Given the description of an element on the screen output the (x, y) to click on. 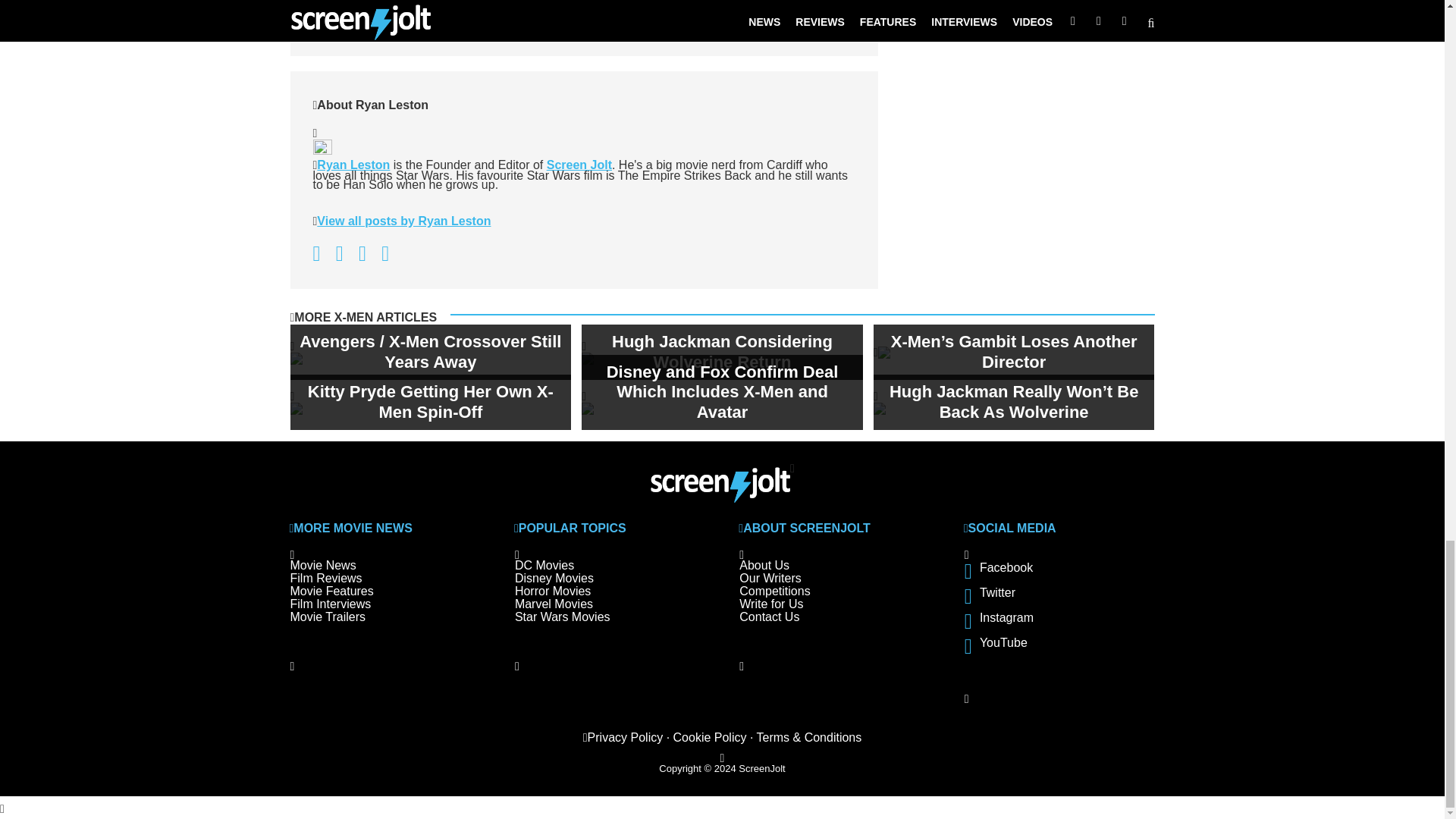
Ryan Reynolds (455, 20)
Ryan Leston (353, 164)
X-Men (520, 20)
Marvel (389, 20)
Deadpool (339, 20)
Movie News (345, 11)
